Given the description of an element on the screen output the (x, y) to click on. 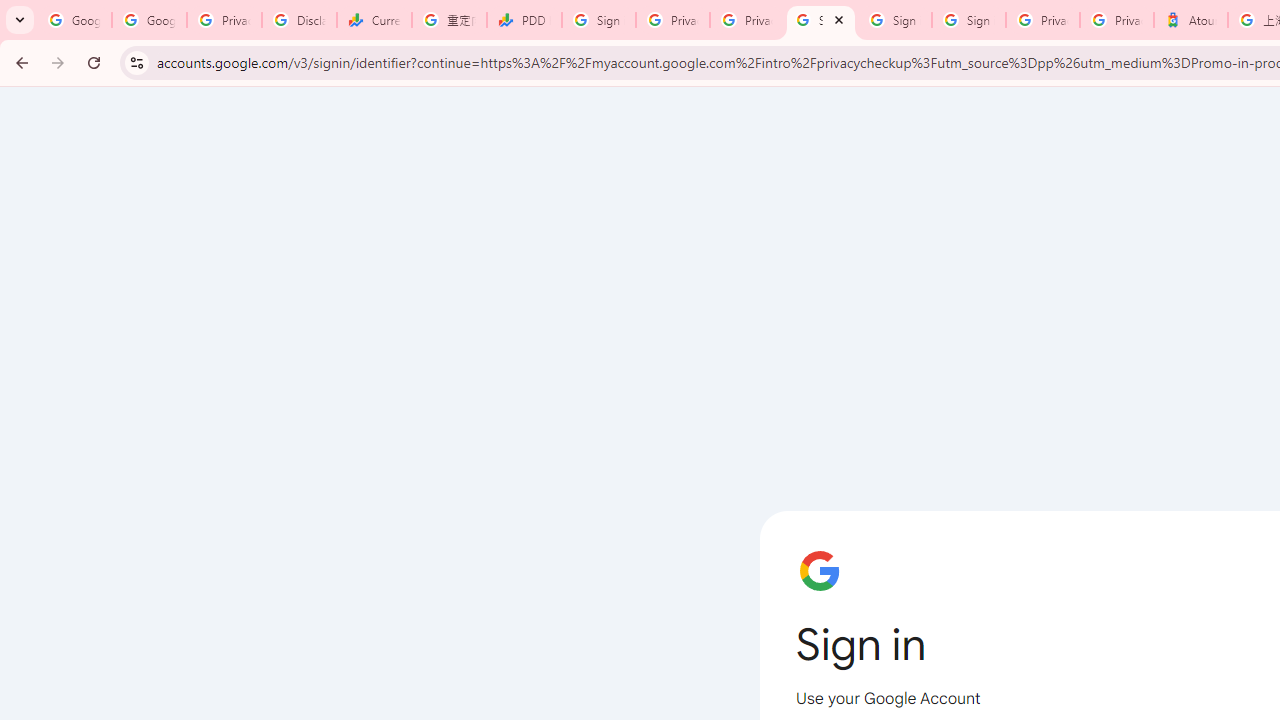
Sign in - Google Accounts (894, 20)
PDD Holdings Inc - ADR (PDD) Price & News - Google Finance (523, 20)
Sign in - Google Accounts (968, 20)
Atour Hotel - Google hotels (1190, 20)
